Given the description of an element on the screen output the (x, y) to click on. 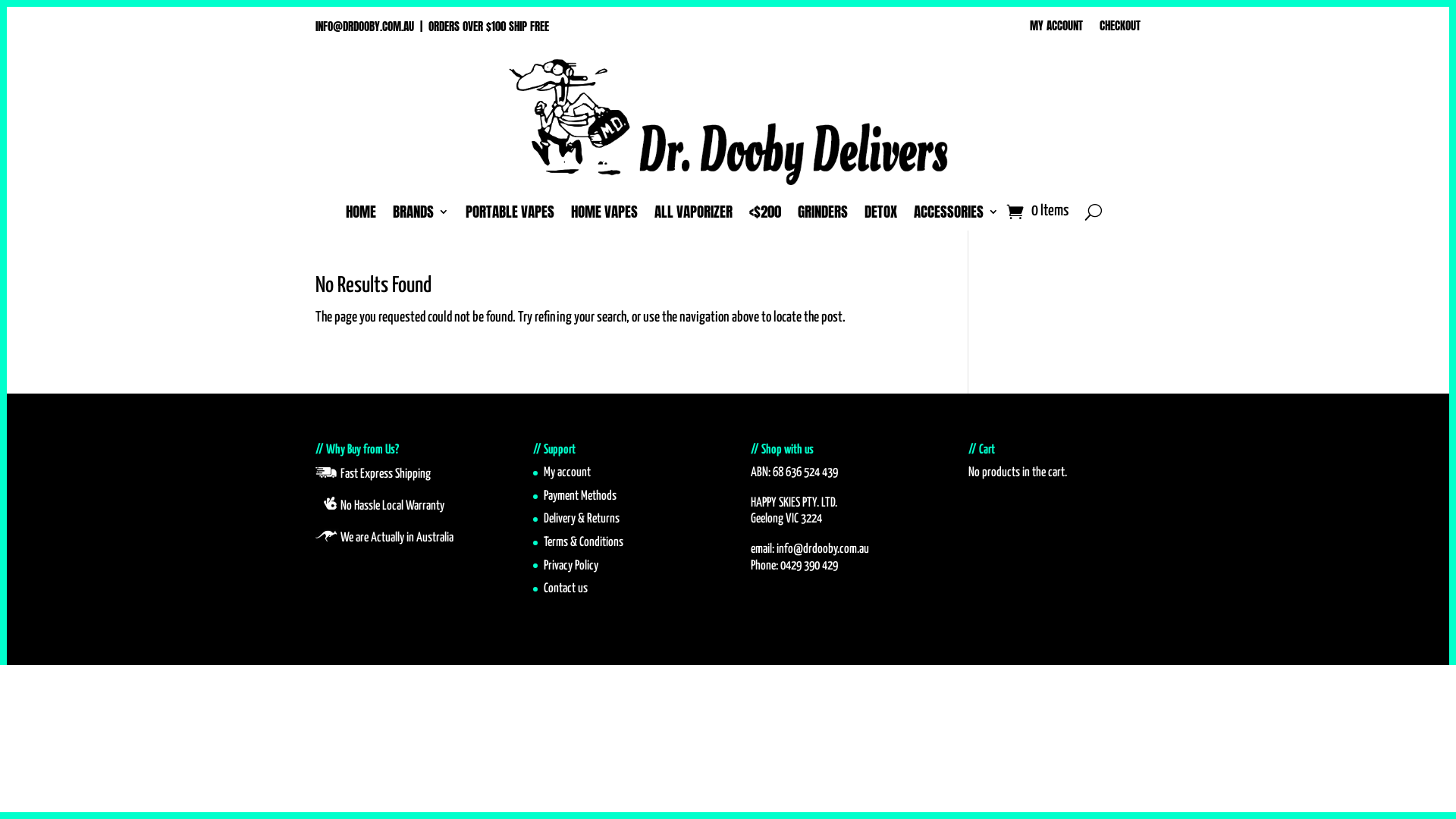
HOME VAPES Element type: text (604, 214)
MY ACCOUNT Element type: text (1055, 28)
<$200 Element type: text (765, 214)
ALL VAPORIZER Element type: text (693, 214)
INFO@DRDOOBY.COM.AU Element type: text (364, 25)
GRINDERS Element type: text (822, 214)
Contact us Element type: text (565, 588)
Delivery & Returns Element type: text (581, 518)
Payment Methods Element type: text (579, 495)
ACCESSORIES Element type: text (955, 214)
My account Element type: text (566, 472)
0 Items Element type: text (1037, 211)
HOME Element type: text (360, 214)
Terms & Conditions Element type: text (583, 542)
Privacy Policy Element type: text (570, 565)
PORTABLE VAPES Element type: text (509, 214)
CHECKOUT Element type: text (1119, 28)
BRANDS Element type: text (420, 214)
DETOX Element type: text (880, 214)
SMAKE-THE-FLY'N-DOCTOR MASTER Element type: hover (727, 121)
